Given the description of an element on the screen output the (x, y) to click on. 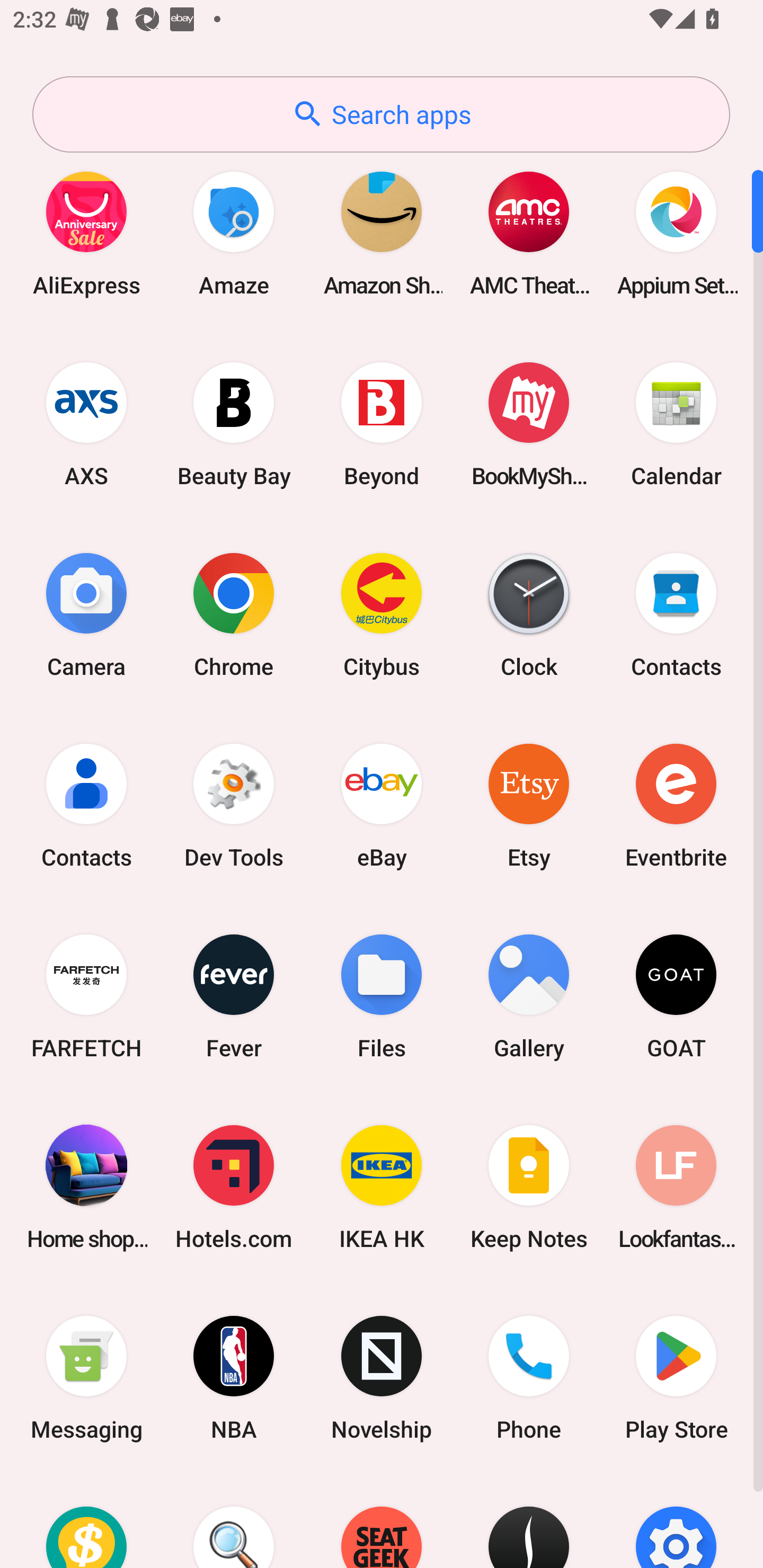
  Search apps (381, 114)
AliExpress (86, 233)
Amaze (233, 233)
Amazon Shopping (381, 233)
AMC Theatres (528, 233)
Appium Settings (676, 233)
AXS (86, 424)
Beauty Bay (233, 424)
Beyond (381, 424)
BookMyShow (528, 424)
Calendar (676, 424)
Camera (86, 614)
Chrome (233, 614)
Citybus (381, 614)
Clock (528, 614)
Contacts (676, 614)
Contacts (86, 805)
Dev Tools (233, 805)
eBay (381, 805)
Etsy (528, 805)
Eventbrite (676, 805)
FARFETCH (86, 996)
Fever (233, 996)
Files (381, 996)
Gallery (528, 996)
GOAT (676, 996)
Home shopping (86, 1186)
Hotels.com (233, 1186)
IKEA HK (381, 1186)
Keep Notes (528, 1186)
Lookfantastic (676, 1186)
Messaging (86, 1377)
NBA (233, 1377)
Novelship (381, 1377)
Phone (528, 1377)
Play Store (676, 1377)
